Given the description of an element on the screen output the (x, y) to click on. 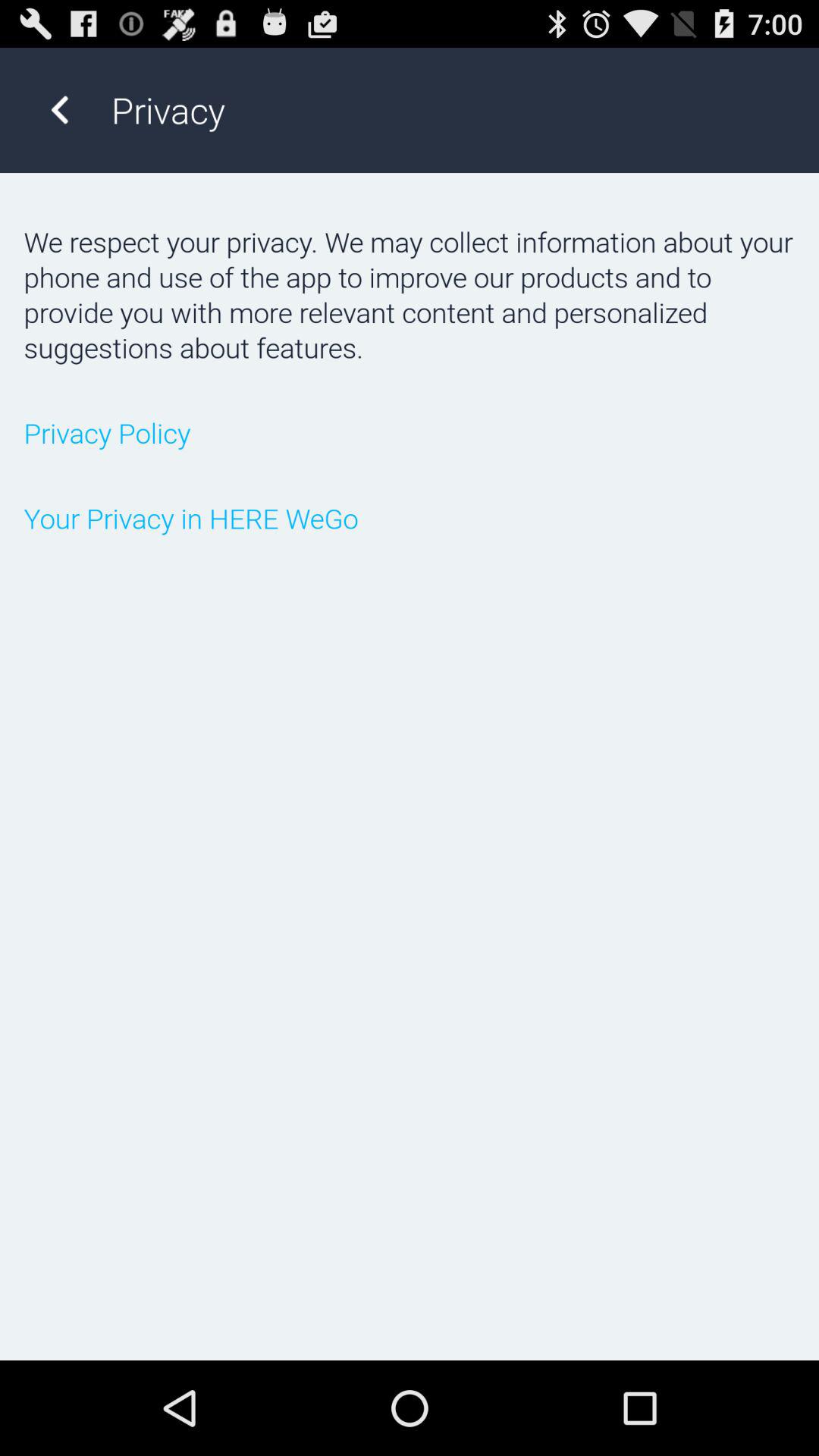
open the icon above your privacy in icon (409, 432)
